Given the description of an element on the screen output the (x, y) to click on. 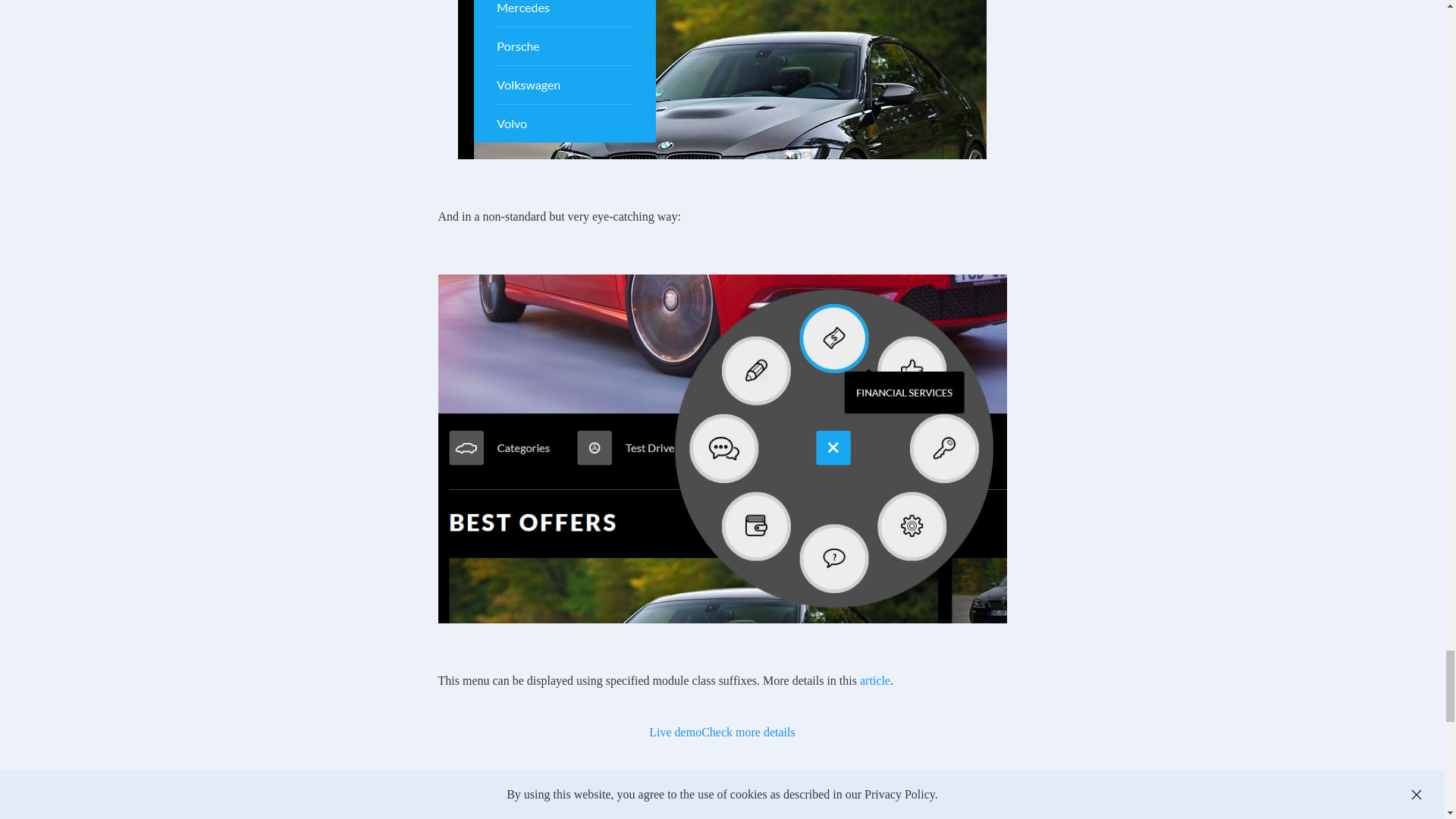
JM Car Dealer module suffixes (874, 680)
Live Demo (675, 731)
JM Car Dealer (747, 731)
